Given the description of an element on the screen output the (x, y) to click on. 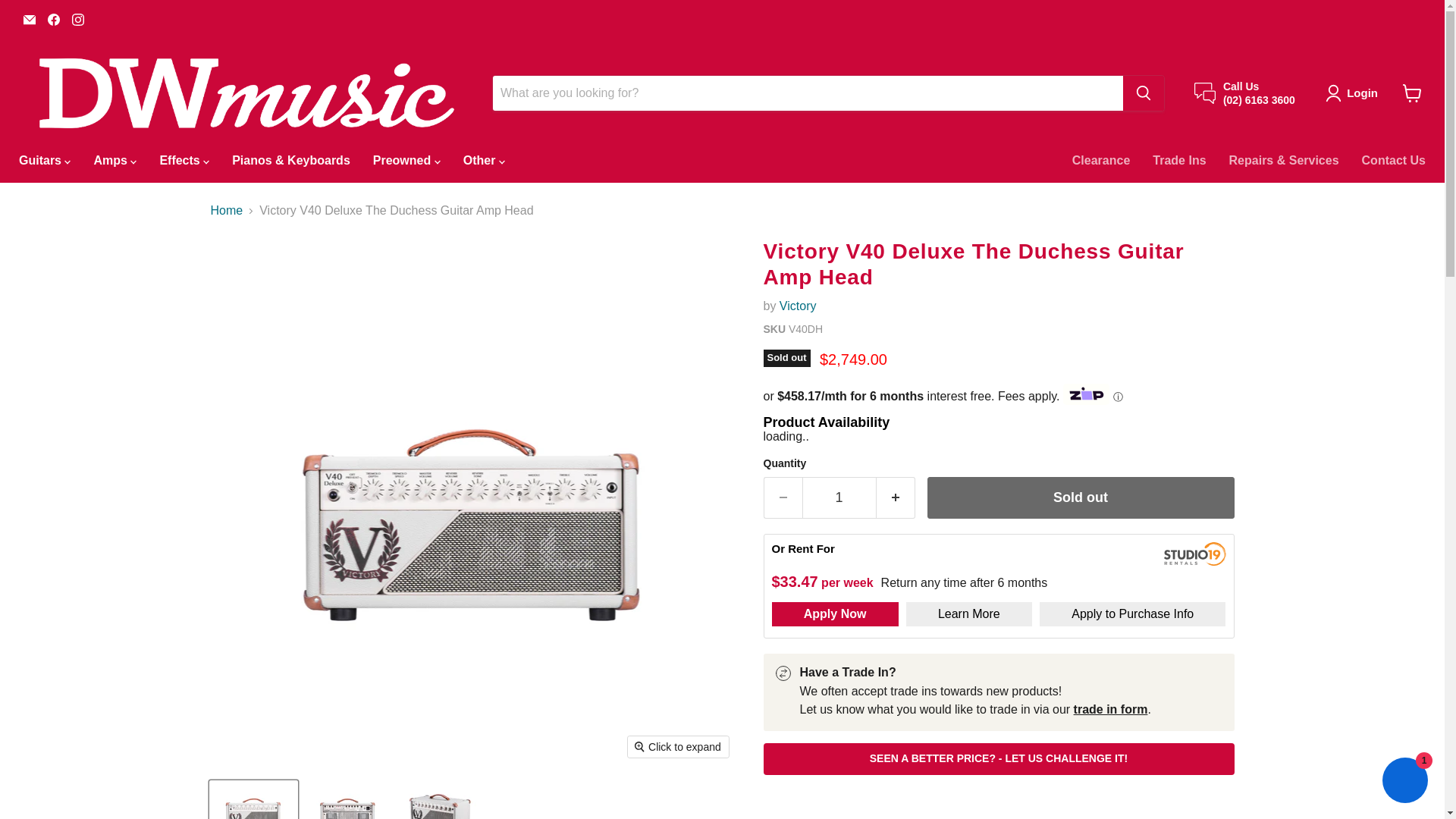
View cart (1411, 92)
Email DWmusic (29, 19)
Email (29, 19)
Instagram (77, 19)
Facebook (53, 19)
Login (1354, 93)
1 (839, 497)
Find us on Facebook (53, 19)
Victory (797, 305)
Find us on Instagram (77, 19)
